Given the description of an element on the screen output the (x, y) to click on. 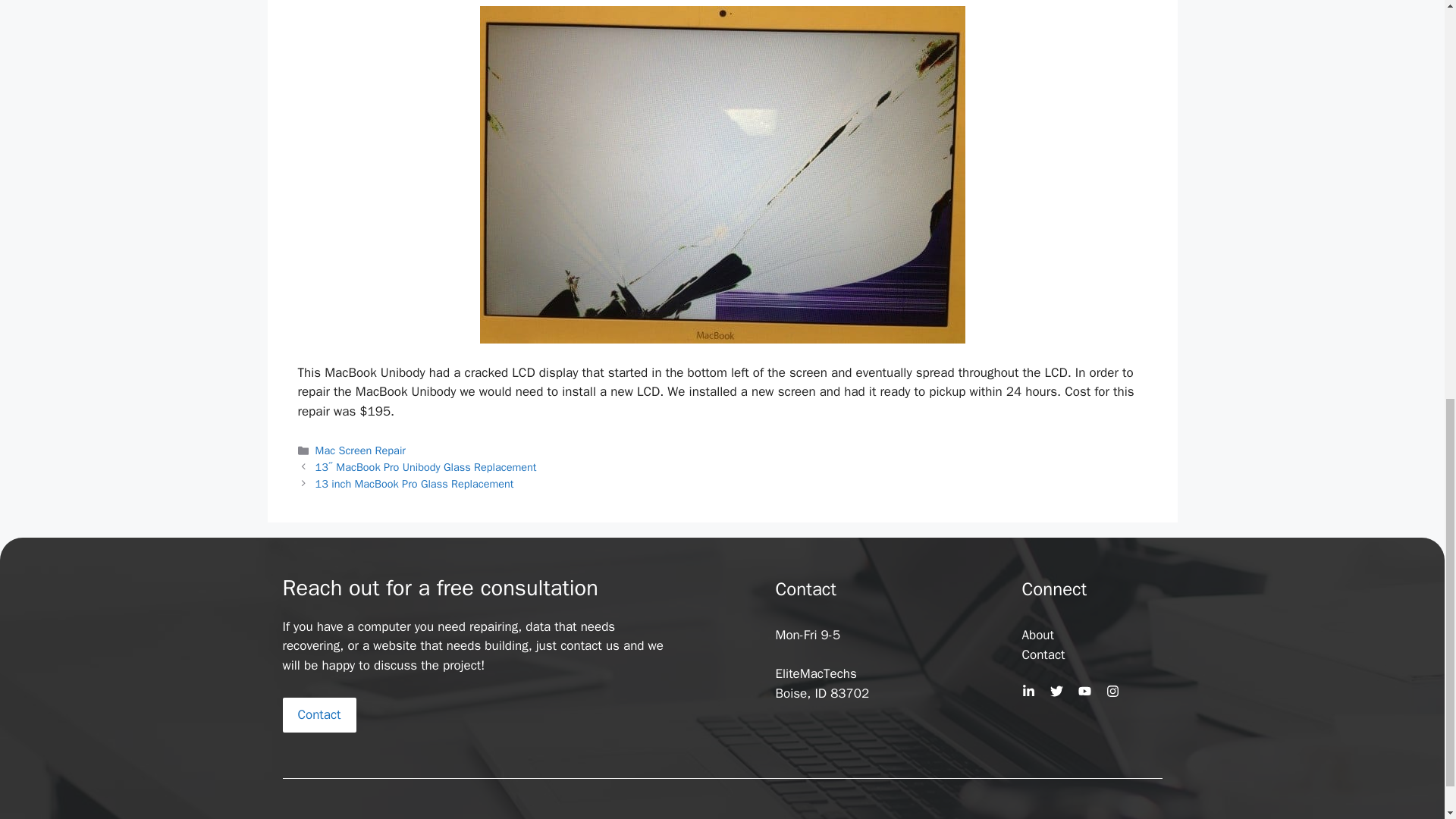
Contact (1043, 654)
Mac Screen Repair (360, 450)
About (1038, 634)
13 inch MacBook Pro Glass Replacement (414, 483)
Contact (318, 714)
